Given the description of an element on the screen output the (x, y) to click on. 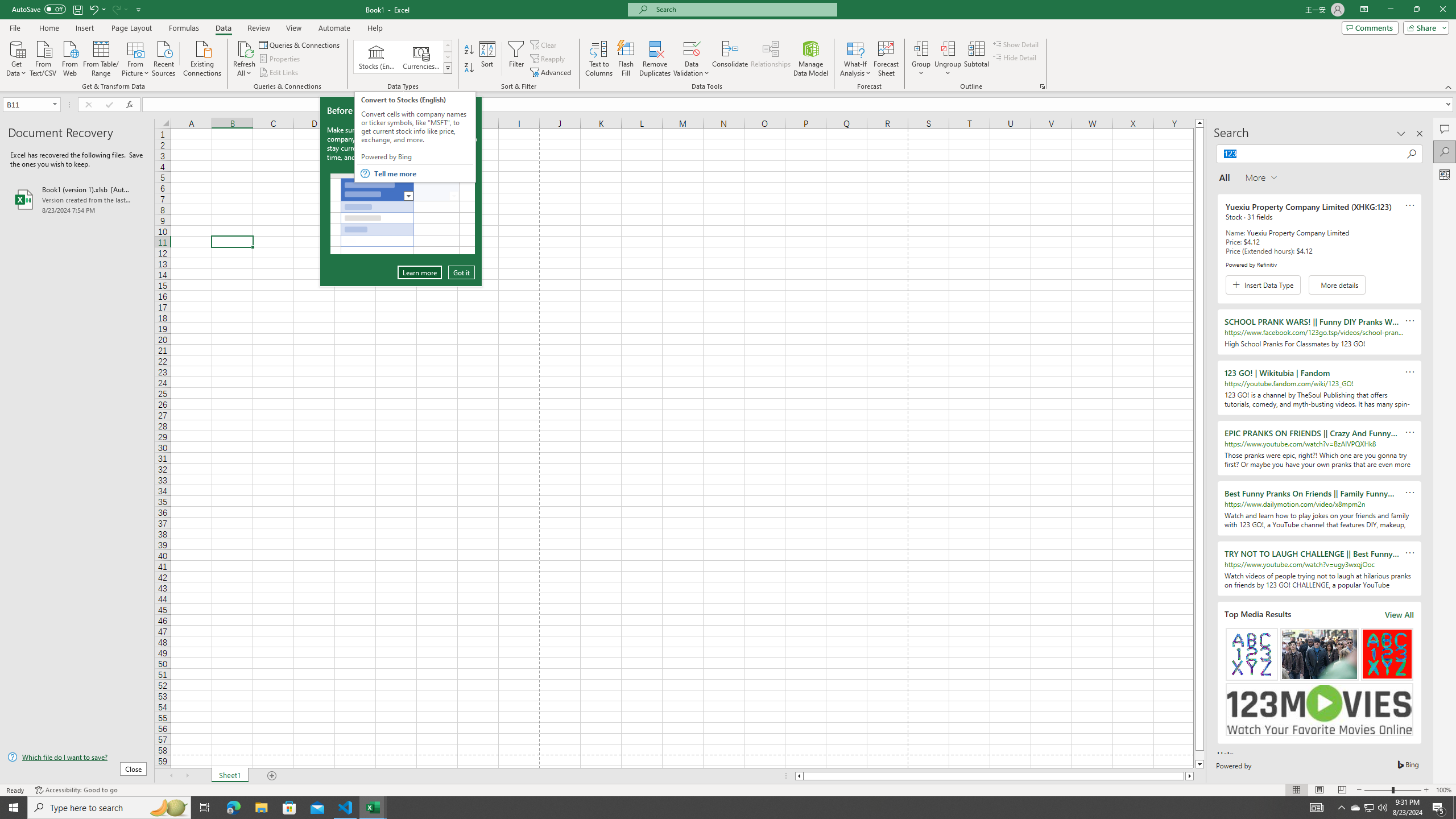
Got it (461, 272)
Excel - 2 running windows (373, 807)
Microsoft Edge (233, 807)
